Given the description of an element on the screen output the (x, y) to click on. 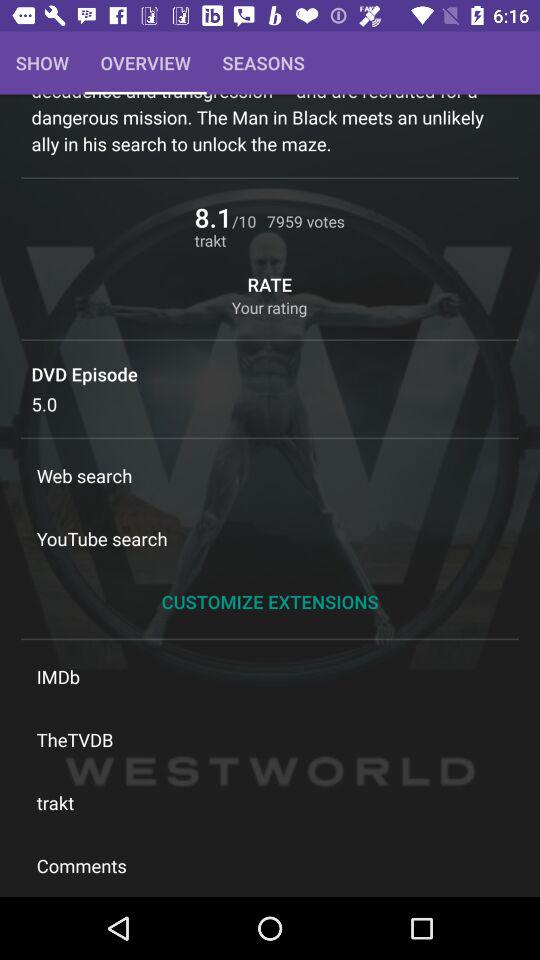
open the icon above trakt (270, 739)
